Given the description of an element on the screen output the (x, y) to click on. 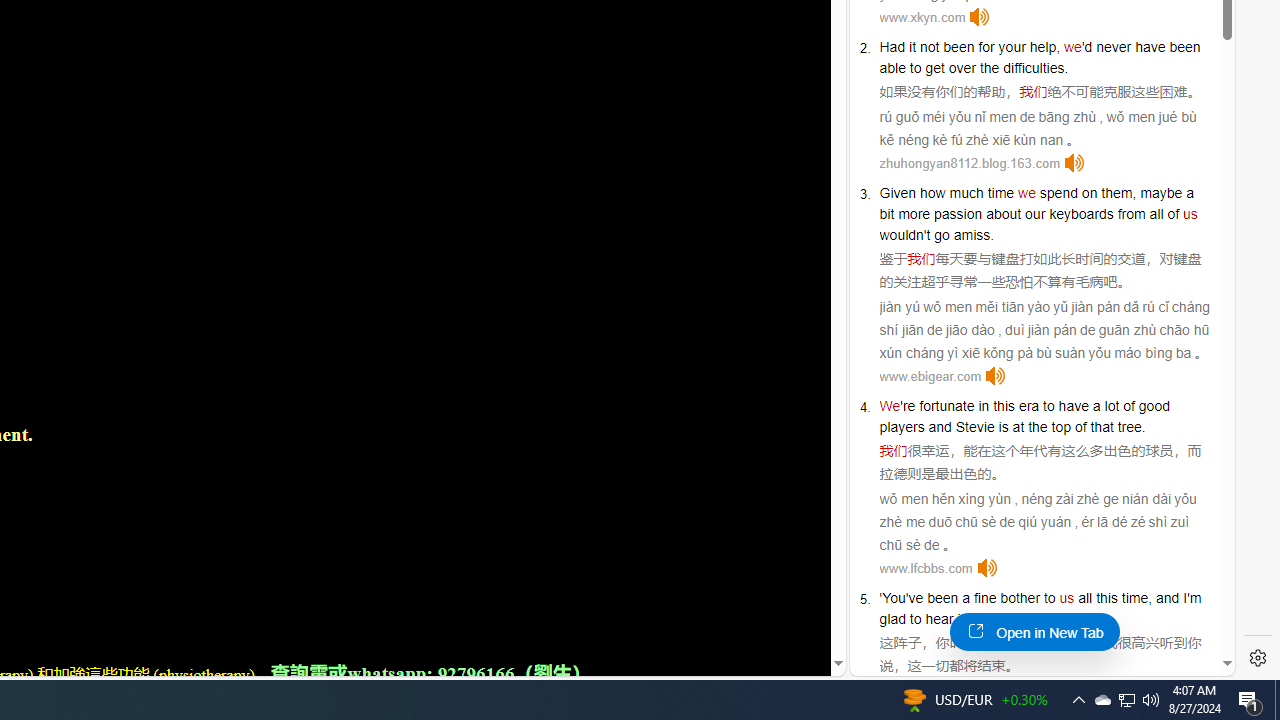
top (1060, 426)
amiss (971, 234)
era (1028, 405)
we (1026, 192)
players (902, 426)
us (1066, 597)
fortunate (947, 405)
